Given the description of an element on the screen output the (x, y) to click on. 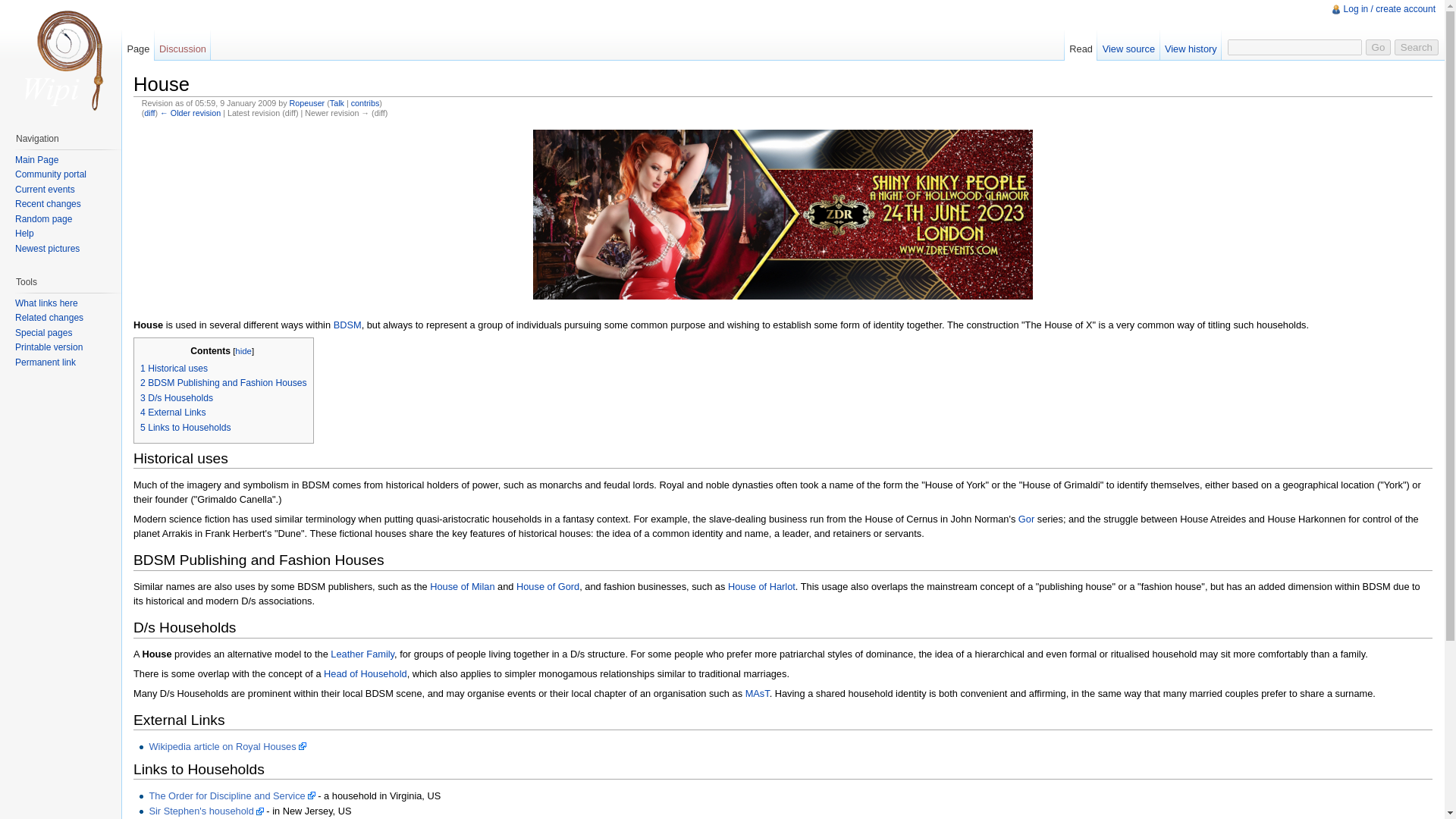
User talk:Ropeuser (336, 102)
2 BDSM Publishing and Fashion Houses (223, 382)
MAsT (757, 693)
1 Historical uses (173, 368)
House of Harlot (761, 586)
House of Harlot (761, 586)
Go (1378, 47)
MAsT (757, 693)
House (190, 112)
Discussion (182, 45)
